Given the description of an element on the screen output the (x, y) to click on. 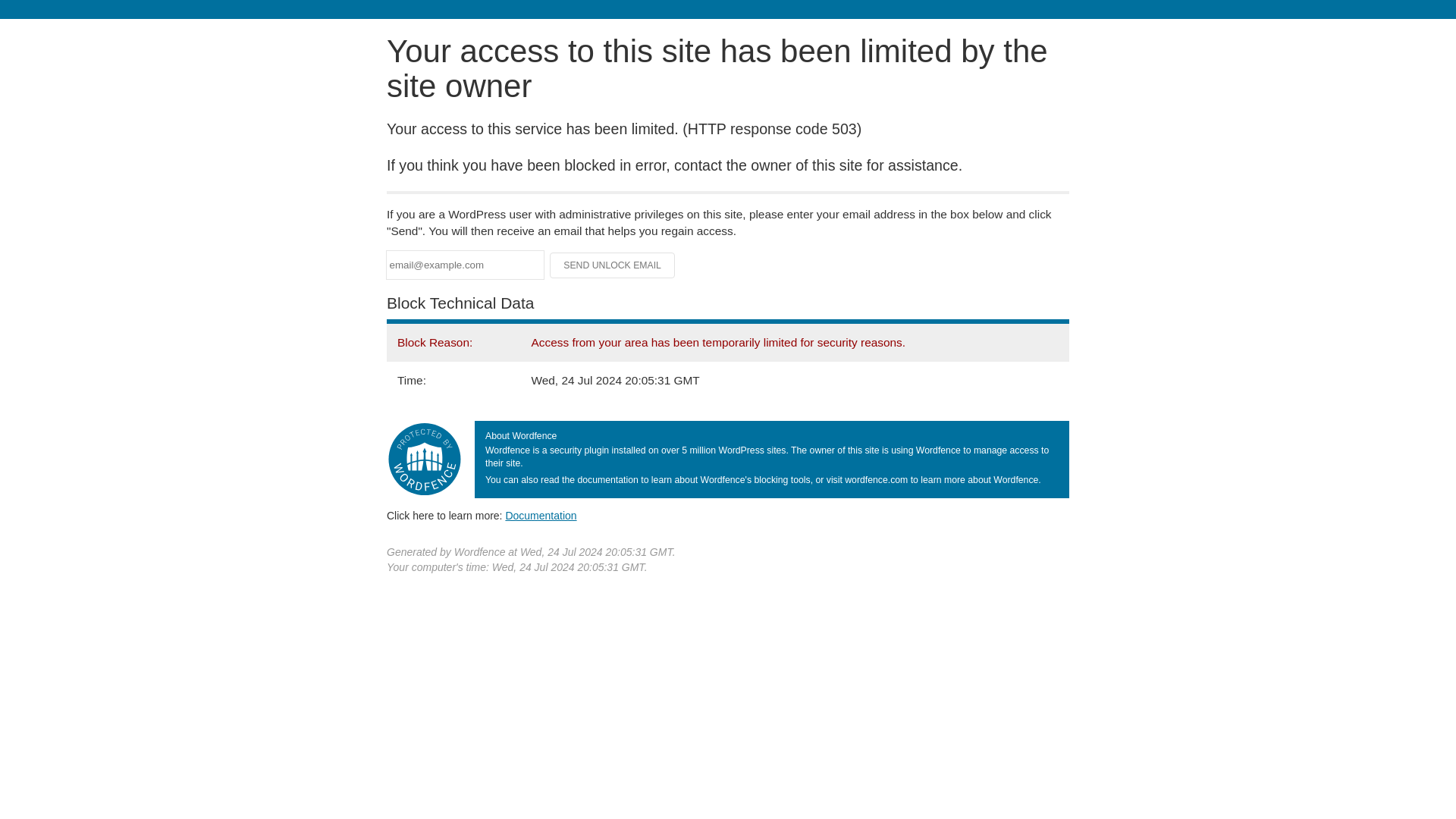
Send Unlock Email (612, 265)
Documentation (540, 515)
Send Unlock Email (612, 265)
